Given the description of an element on the screen output the (x, y) to click on. 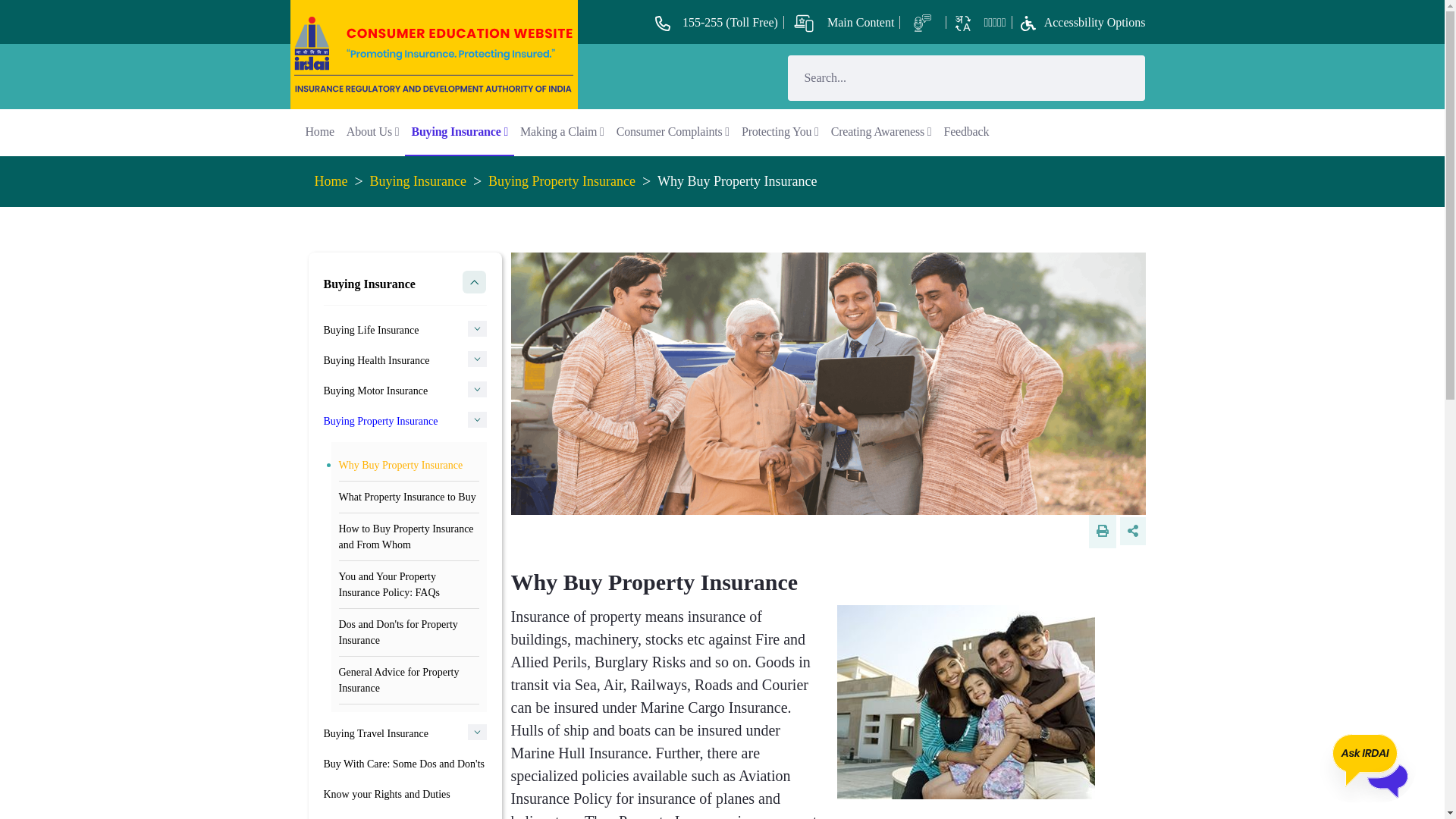
Buying Insurance (458, 132)
About Us (373, 132)
Text to Audio (924, 21)
Change Language (978, 21)
   Main Content (843, 21)
  Accessbility Options (1079, 21)
Go to  (434, 51)
Search (945, 77)
Toll Free Number (716, 21)
Main Content (843, 21)
